Given the description of an element on the screen output the (x, y) to click on. 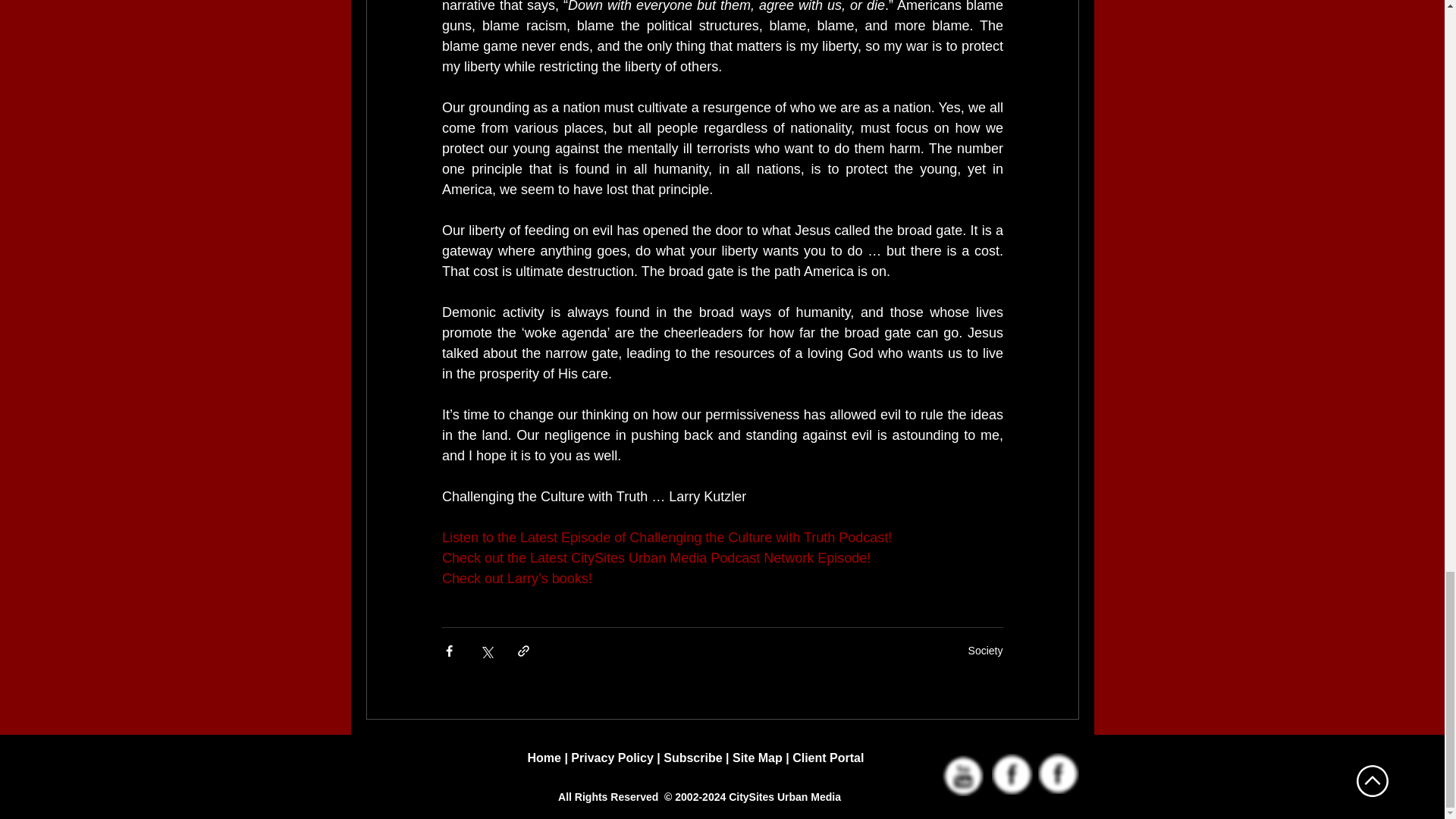
Larry Kutzler (1011, 773)
Site Map (759, 757)
Privacy Policy (611, 757)
Client Portal (827, 757)
Subscribe (692, 757)
Home (543, 757)
YouTube Channel (962, 775)
CitySite Urban Media (1057, 772)
Society (985, 650)
